Given the description of an element on the screen output the (x, y) to click on. 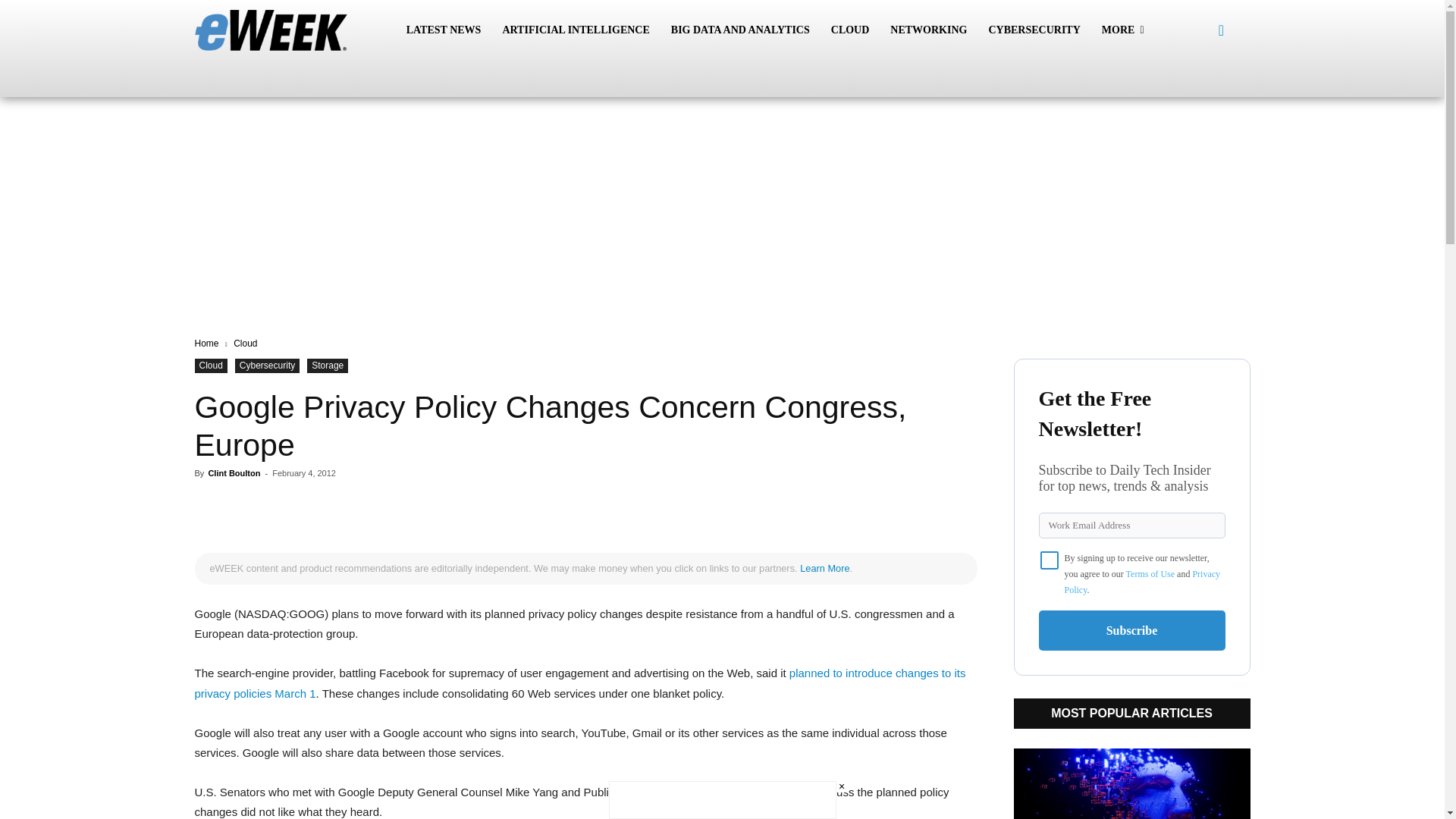
ARTIFICIAL INTELLIGENCE (575, 30)
NETWORKING (927, 30)
on (1049, 560)
CYBERSECURITY (1033, 30)
BIG DATA AND ANALYTICS (741, 30)
CLOUD (850, 30)
LATEST NEWS (444, 30)
